Given the description of an element on the screen output the (x, y) to click on. 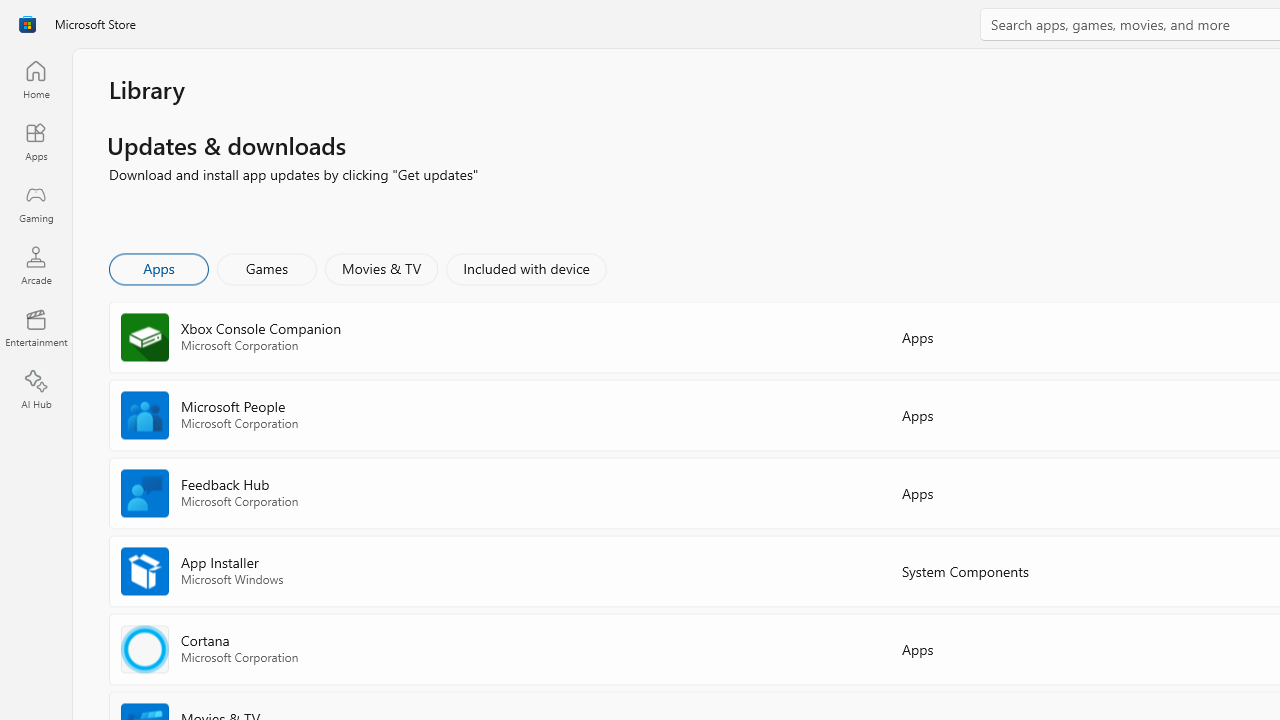
Movies & TV (381, 268)
Gaming (35, 203)
Games (267, 268)
Arcade (35, 265)
Class: Image (27, 24)
Apps (35, 141)
Entertainment (35, 327)
Apps (158, 268)
Included with device (525, 268)
Home (35, 79)
AI Hub (35, 390)
